Given the description of an element on the screen output the (x, y) to click on. 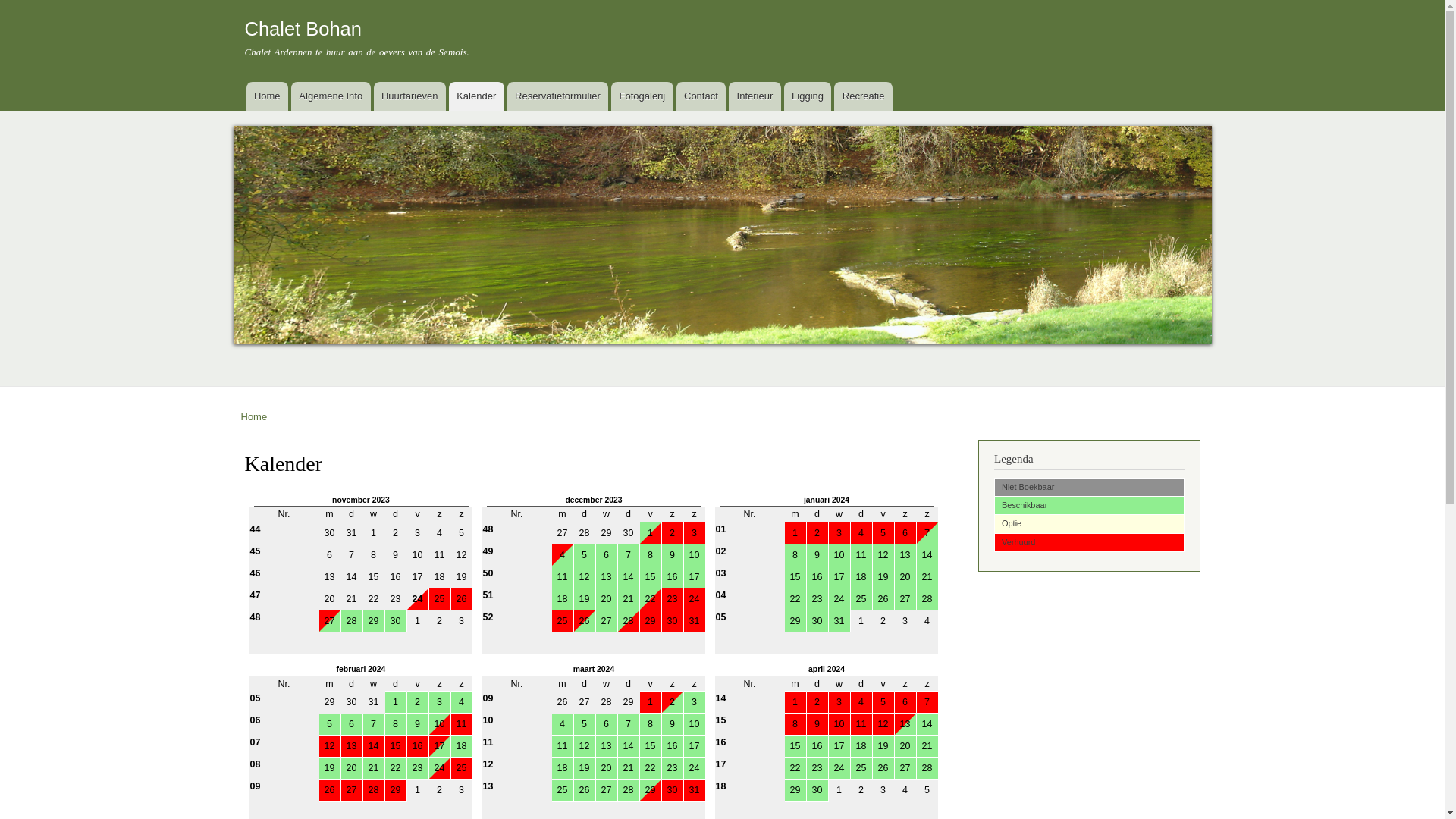
Interieur Element type: text (754, 95)
Home Element type: text (266, 95)
Ligging Element type: text (807, 95)
Kalender Element type: text (476, 95)
Recreatie Element type: text (862, 95)
Chalet Bohan Element type: text (302, 28)
Huurtarieven Element type: text (409, 95)
Contact Element type: text (701, 95)
Algemene Info Element type: text (330, 95)
Home Element type: text (254, 416)
Reservatieformulier Element type: text (557, 95)
Fotogalerij Element type: text (641, 95)
Overslaan en naar de inhoud gaan Element type: text (696, 1)
